Given the description of an element on the screen output the (x, y) to click on. 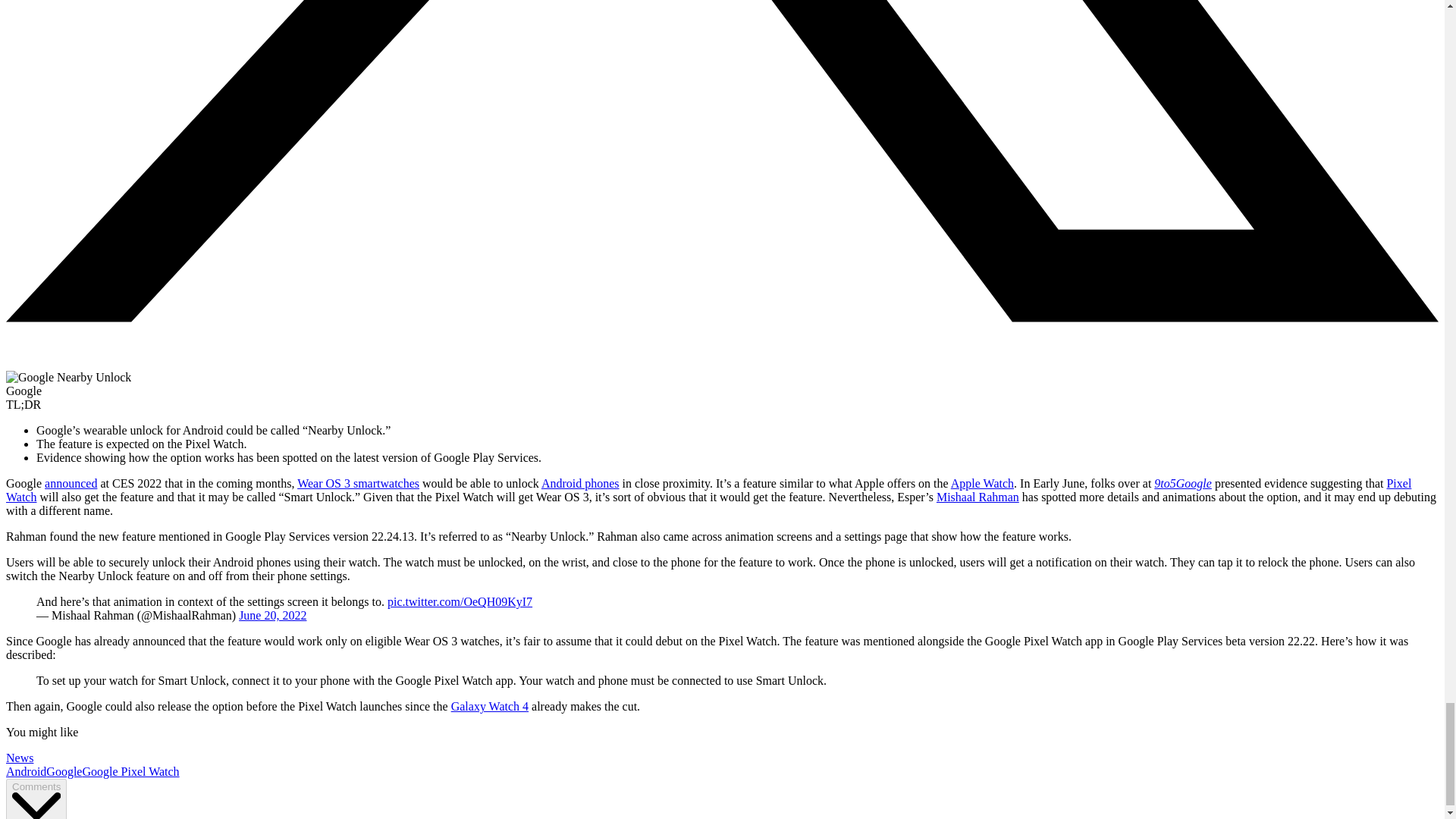
Android (25, 771)
Google Pixel Watch (130, 771)
announced (71, 482)
Google (63, 771)
Google Nearby Unlock (68, 377)
Apple Watch (981, 482)
Android phones (580, 482)
Mishaal Rahman (977, 496)
Galaxy Watch 4 (489, 706)
Wear OS 3 smartwatches (358, 482)
